Given the description of an element on the screen output the (x, y) to click on. 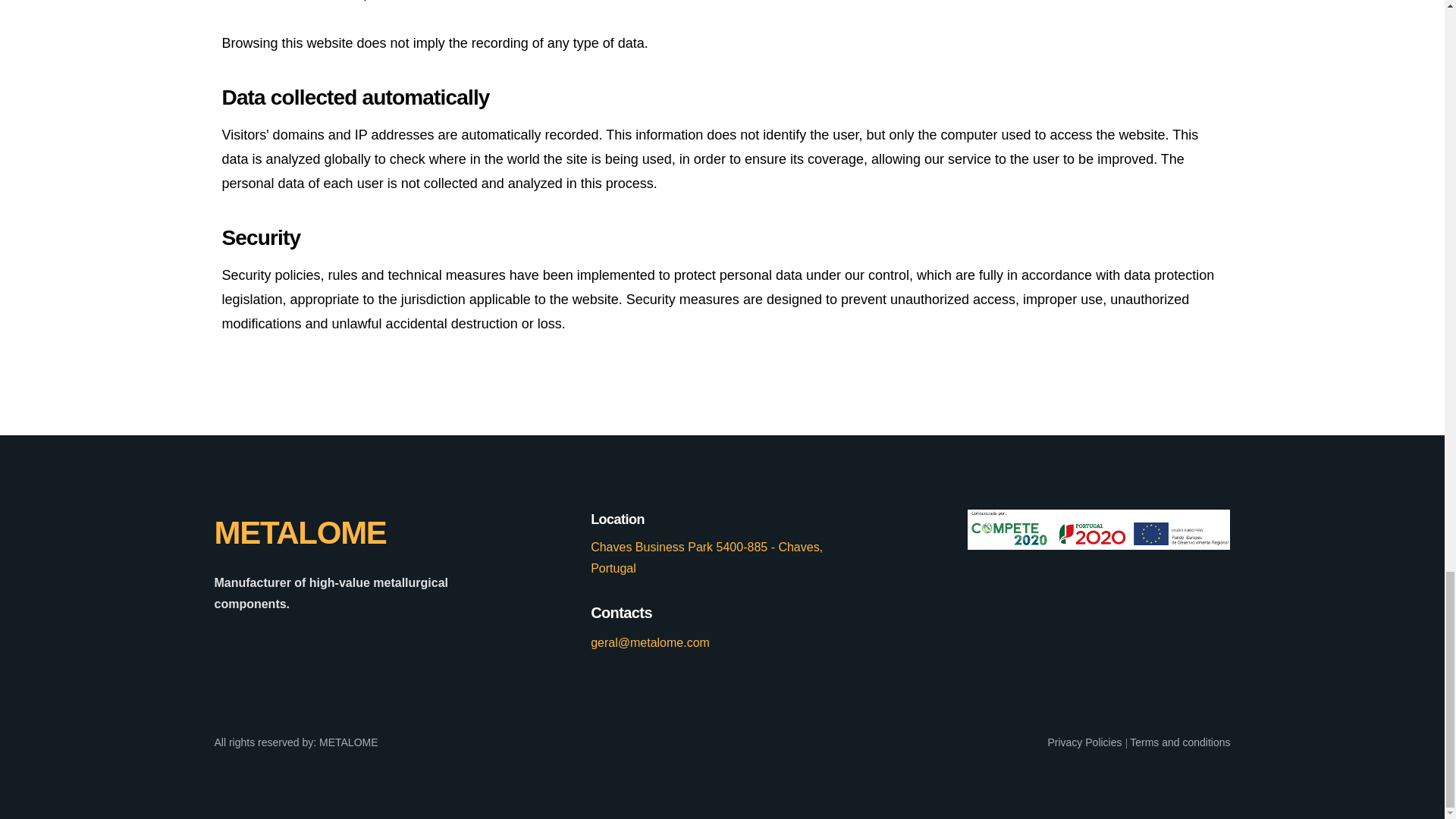
Chaves Business Park 5400-885 - Chaves, Portugal (706, 557)
Terms and conditions (1179, 742)
Privacy Policies (1083, 742)
